Given the description of an element on the screen output the (x, y) to click on. 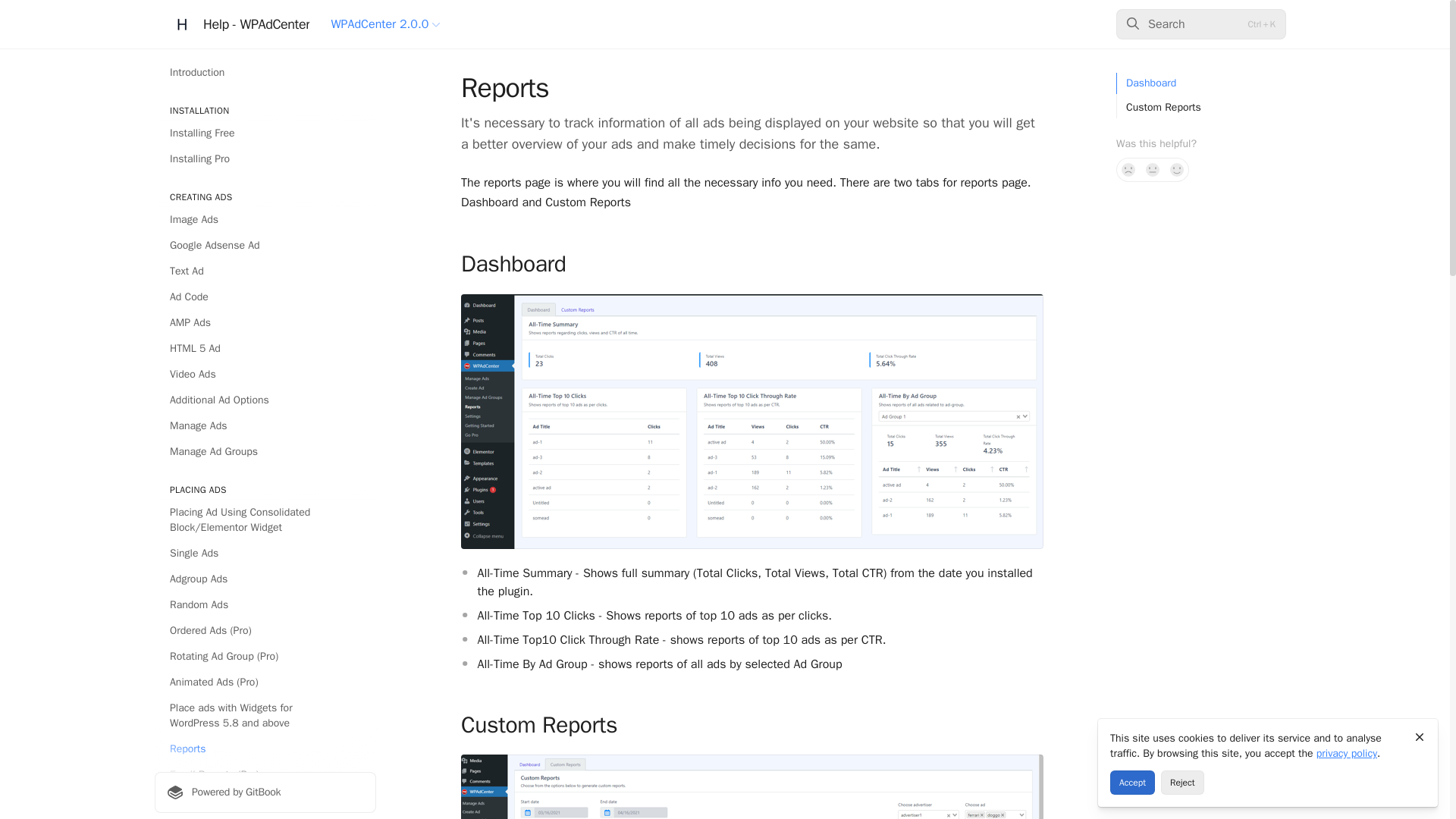
Yes, it was! (1176, 169)
Additional Ad Options (264, 400)
Introduction (264, 72)
Single Ads (264, 553)
Video Ads (264, 374)
Text Ad (264, 271)
HTML 5 Ad (264, 348)
Help - WPAdCenter (239, 24)
Installing Free (264, 133)
Google Adsense Ad (264, 245)
